Given the description of an element on the screen output the (x, y) to click on. 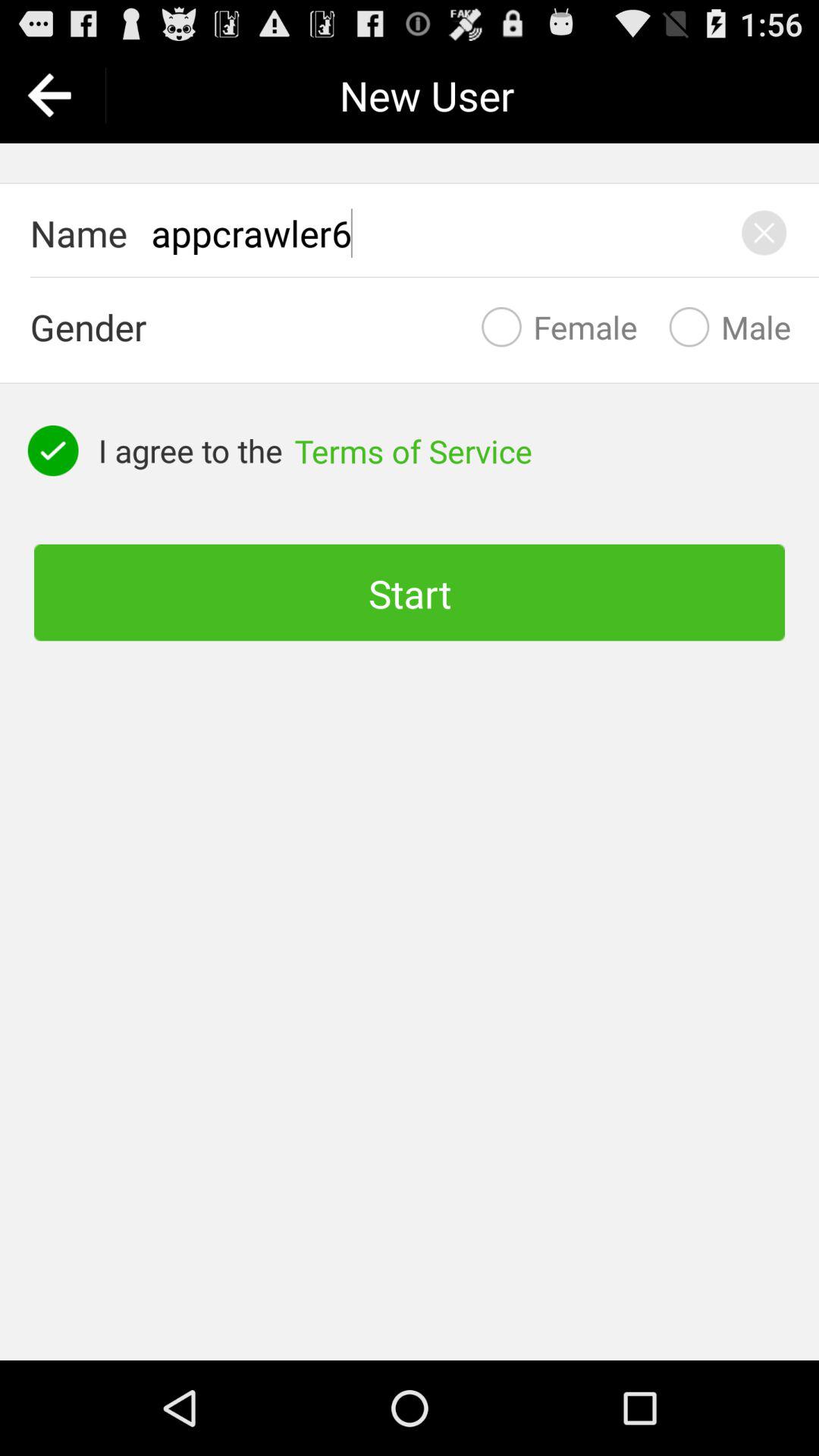
close the tab (764, 233)
